Given the description of an element on the screen output the (x, y) to click on. 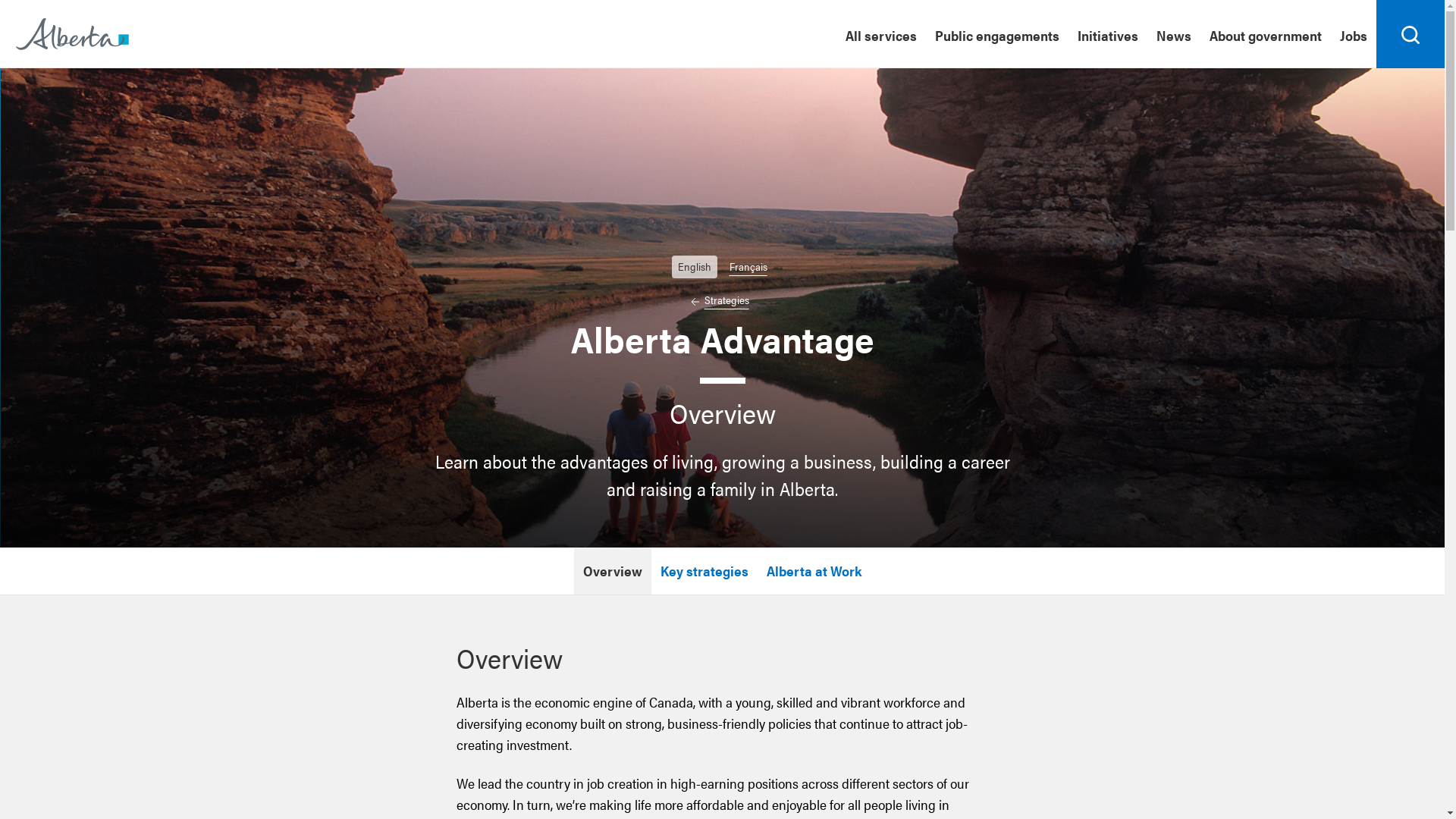
Key strategies Element type: text (704, 570)
Initiatives Element type: text (1107, 34)
Alberta at Work Element type: text (813, 570)
Home Element type: hover (72, 33)
English Element type: text (694, 265)
All services Element type: text (880, 34)
News Element type: text (1173, 34)
Search Element type: text (1410, 34)
About government Element type: text (1265, 34)
Strategies Element type: text (719, 299)
Public engagements Element type: text (996, 34)
Jobs Element type: text (1353, 34)
Overview Element type: text (612, 570)
